Given the description of an element on the screen output the (x, y) to click on. 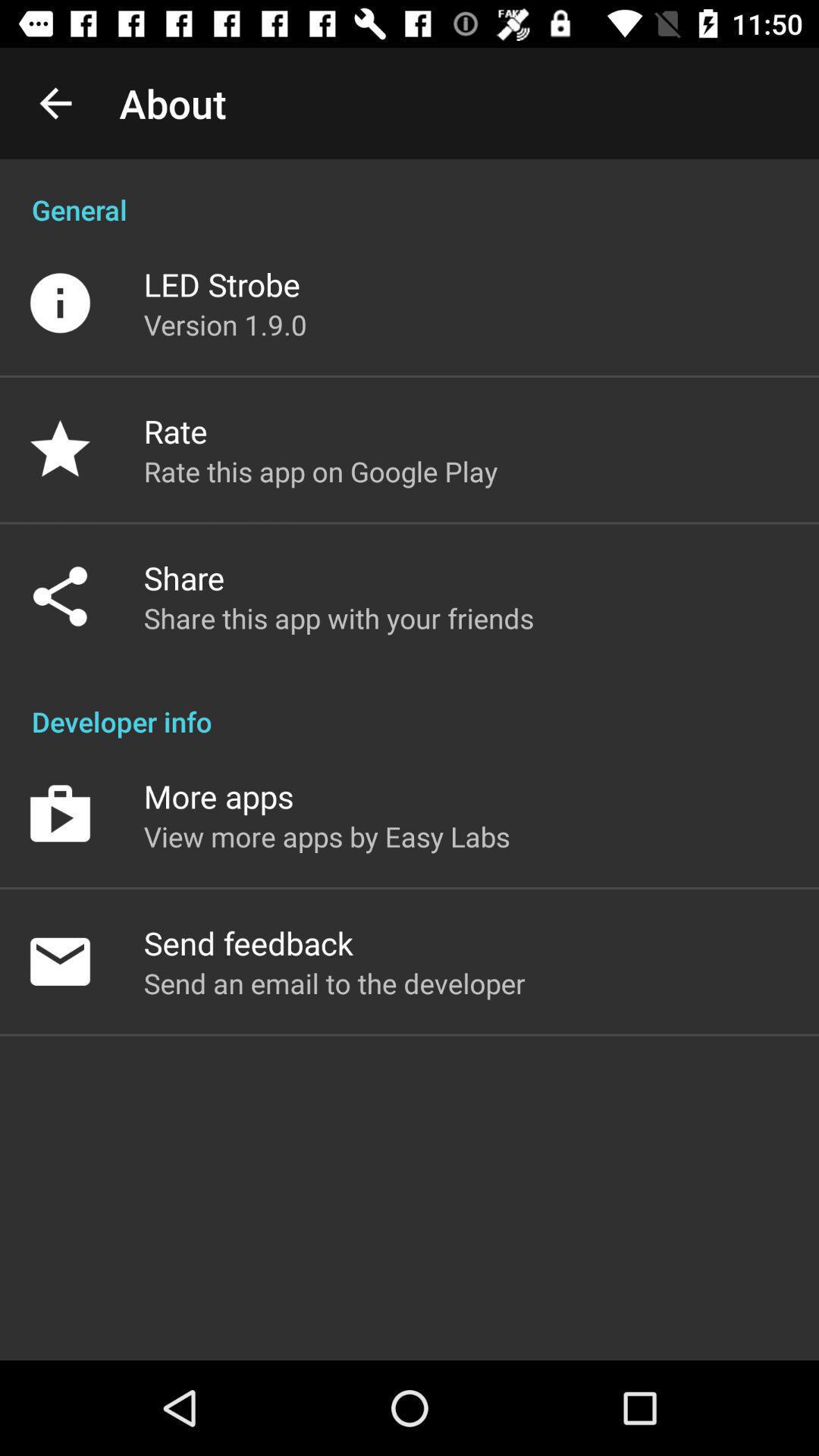
press item below the share this app app (409, 705)
